Given the description of an element on the screen output the (x, y) to click on. 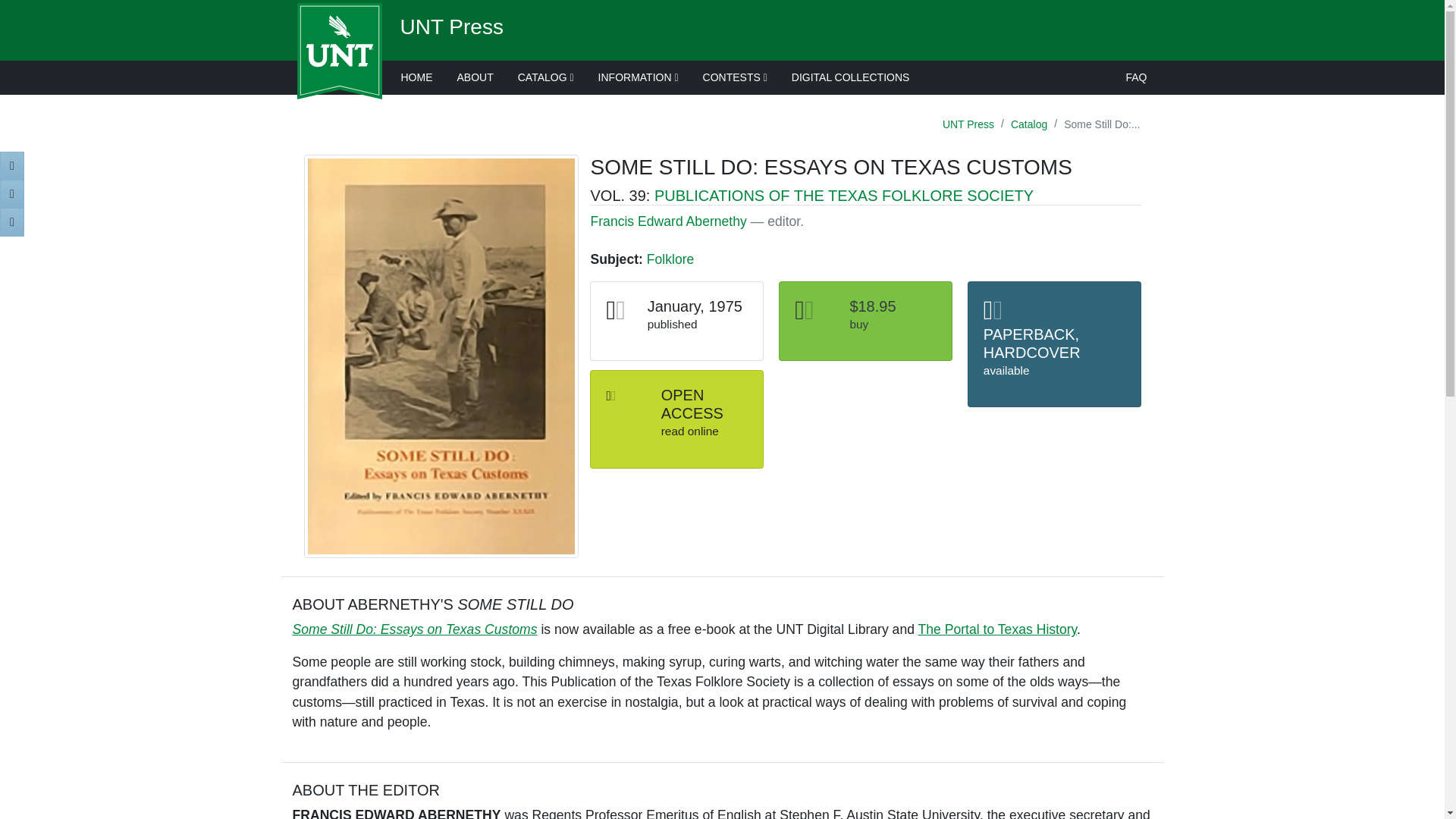
Some Still Do:... (1101, 124)
Francis Edward Abernethy (667, 221)
Some Still Do: Essays on Texas Customs (414, 629)
FAQ (1135, 77)
PUBLICATIONS OF THE TEXAS FOLKLORE SOCIETY (843, 195)
UNT Press (451, 26)
INFORMATION (638, 77)
Folklore (670, 258)
CATALOG (545, 77)
Catalog (1029, 124)
UNT Press (968, 124)
HOME (416, 77)
ABOUT (474, 77)
DIGITAL COLLECTIONS (849, 77)
The Portal to Texas History (997, 629)
